Given the description of an element on the screen output the (x, y) to click on. 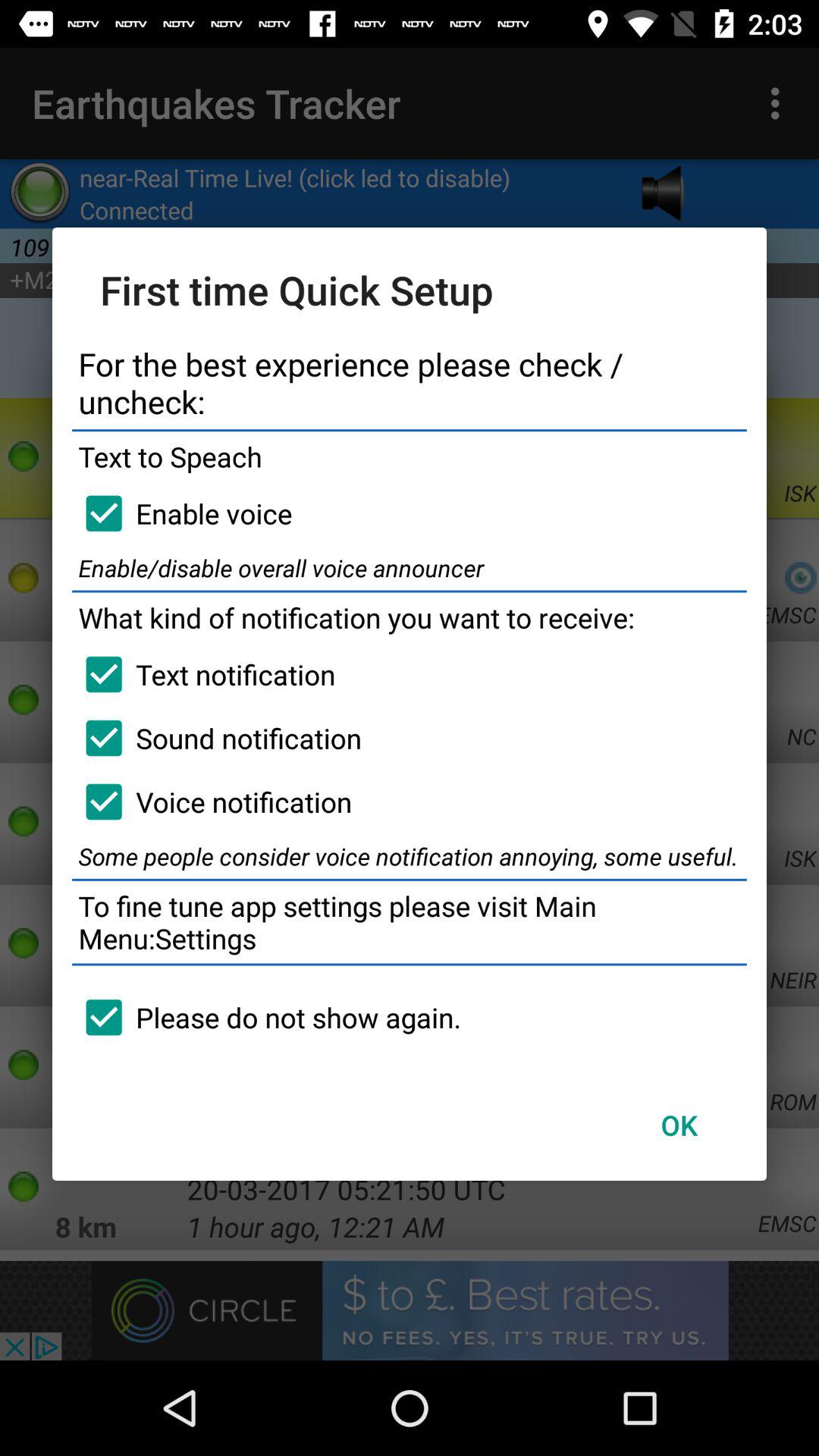
jump to the please do not (266, 1017)
